Given the description of an element on the screen output the (x, y) to click on. 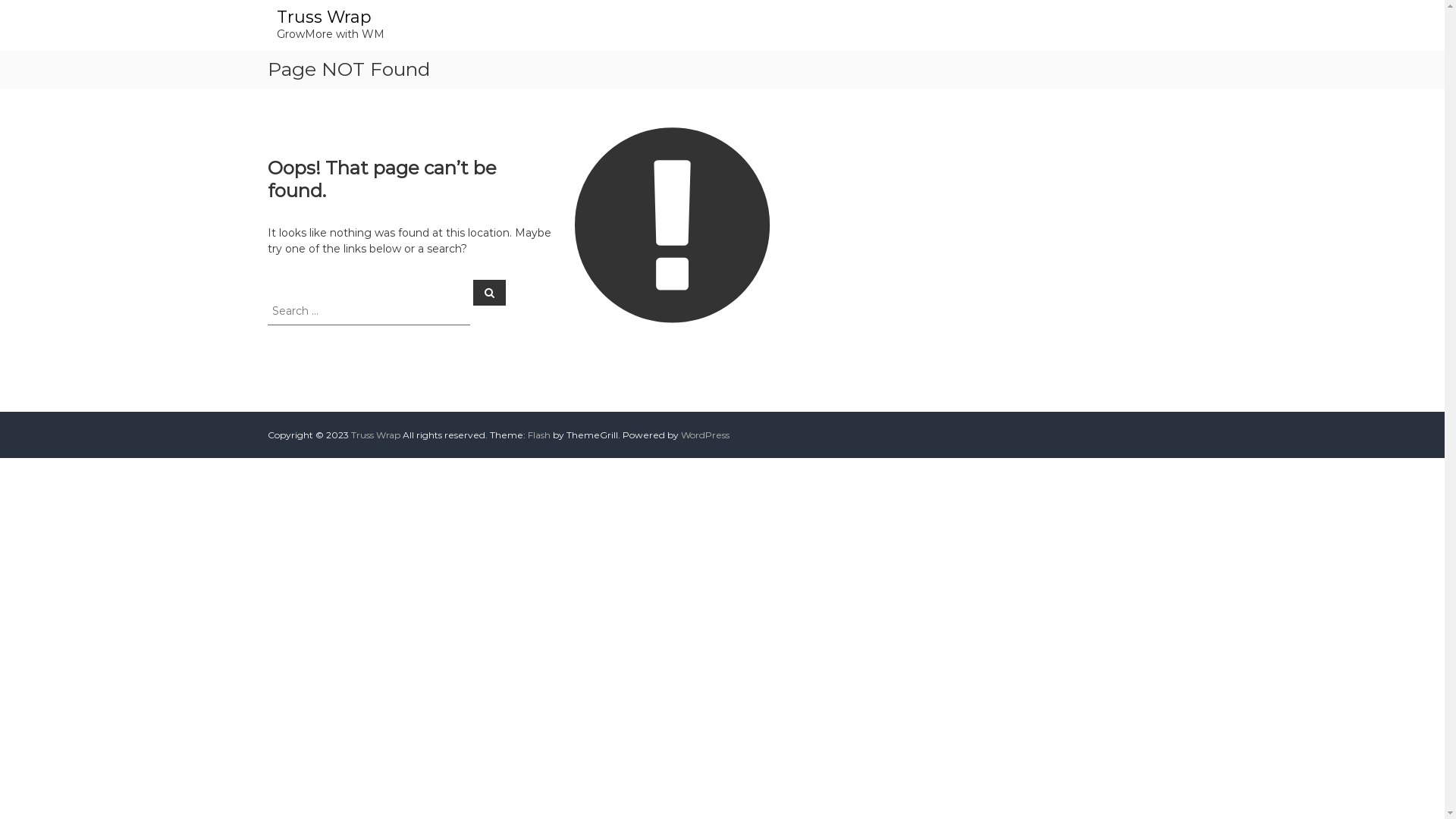
WordPress Element type: text (704, 434)
Search Element type: text (489, 291)
Flash Element type: text (538, 434)
Truss Wrap Element type: text (374, 434)
Truss Wrap Element type: text (323, 16)
